Given the description of an element on the screen output the (x, y) to click on. 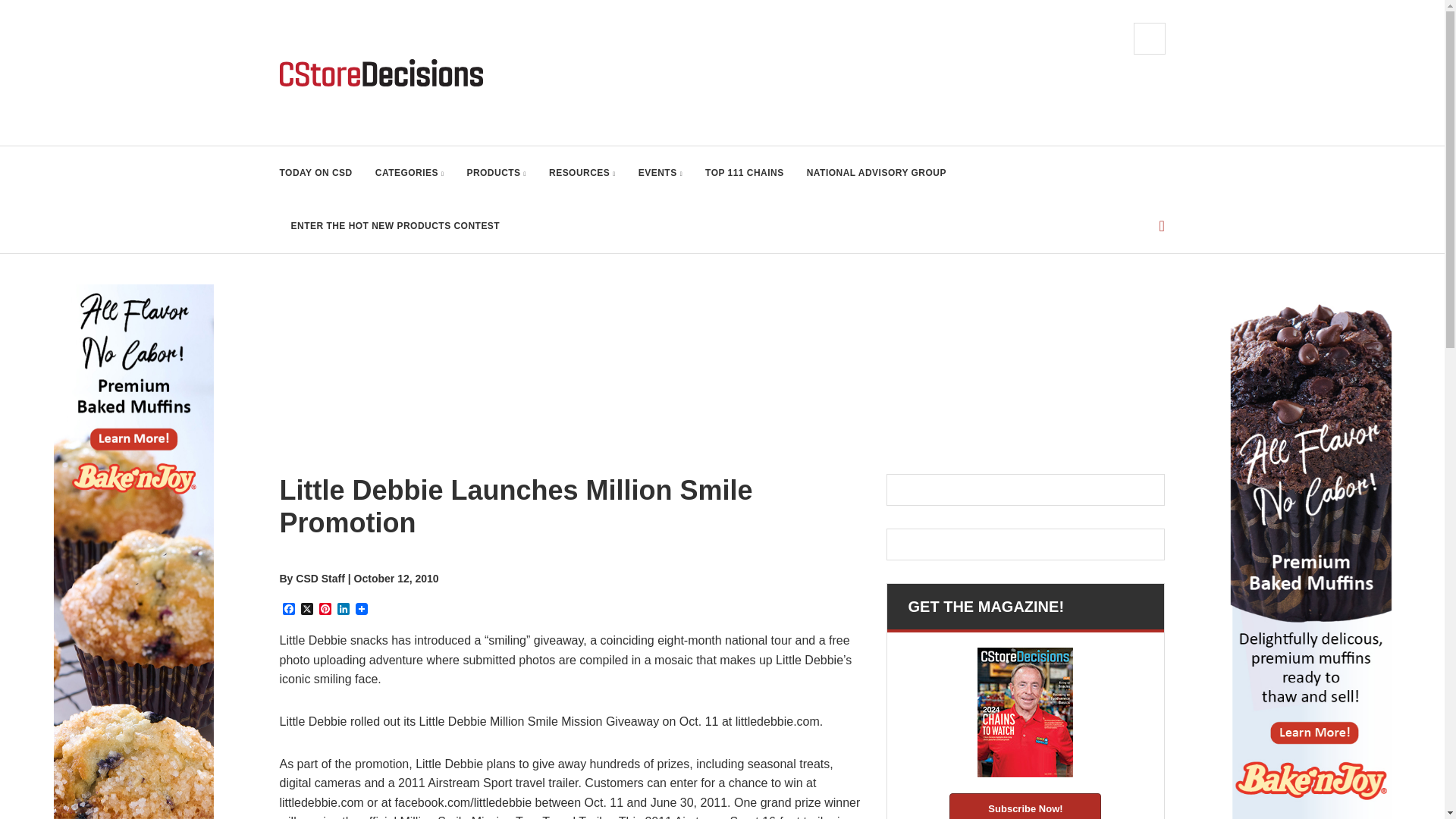
LinkedIn (342, 609)
X (306, 609)
CStore Decisions (380, 72)
CATEGORIES (409, 172)
TOP 111 CHAINS (744, 172)
TODAY ON CSD (315, 172)
PRODUCTS (495, 172)
Facebook (288, 609)
RESOURCES (581, 172)
Pinterest (324, 609)
